Given the description of an element on the screen output the (x, y) to click on. 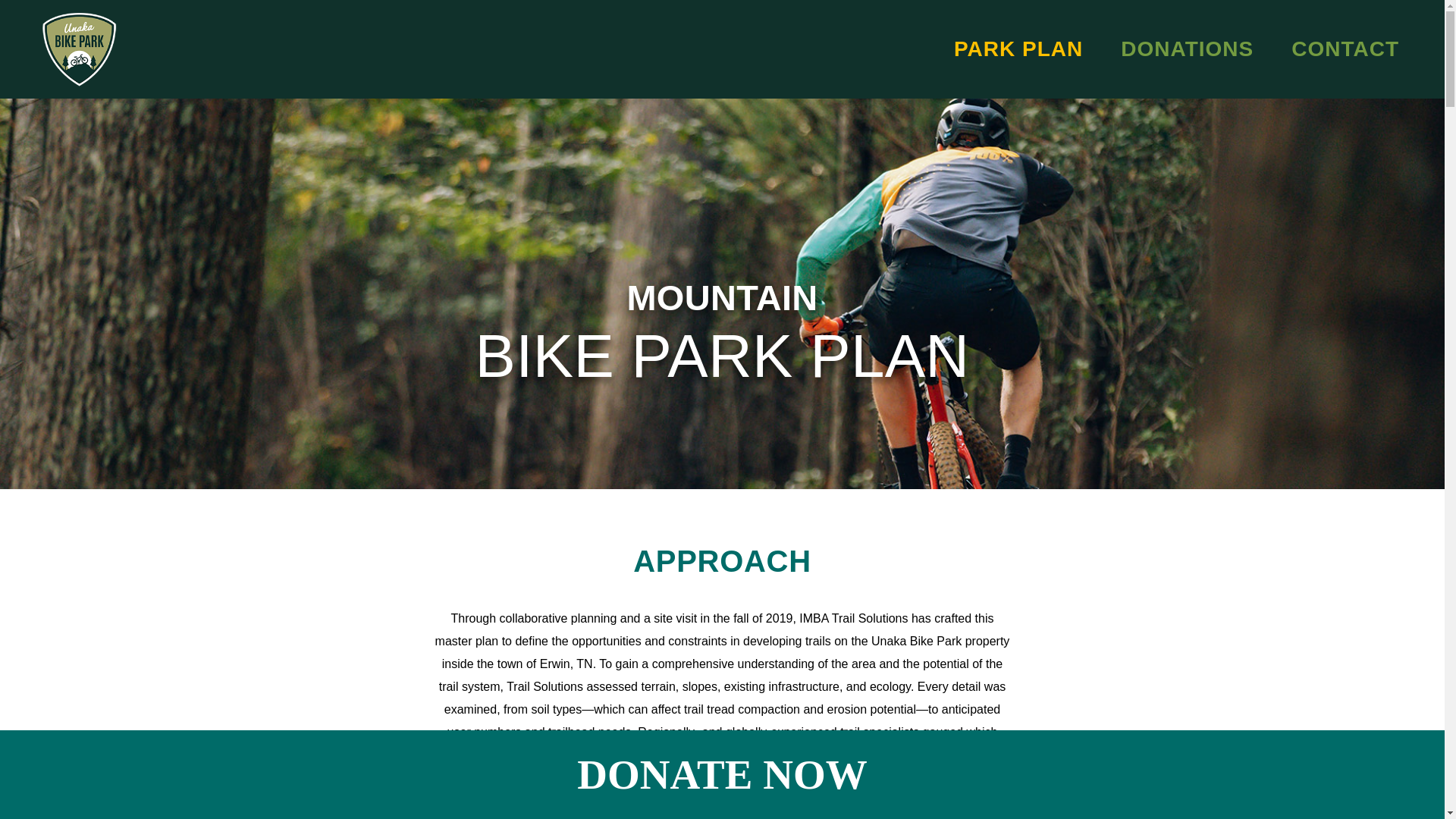
CONTACT (1344, 49)
PARK PLAN (1018, 49)
DONATIONS (1187, 49)
